Given the description of an element on the screen output the (x, y) to click on. 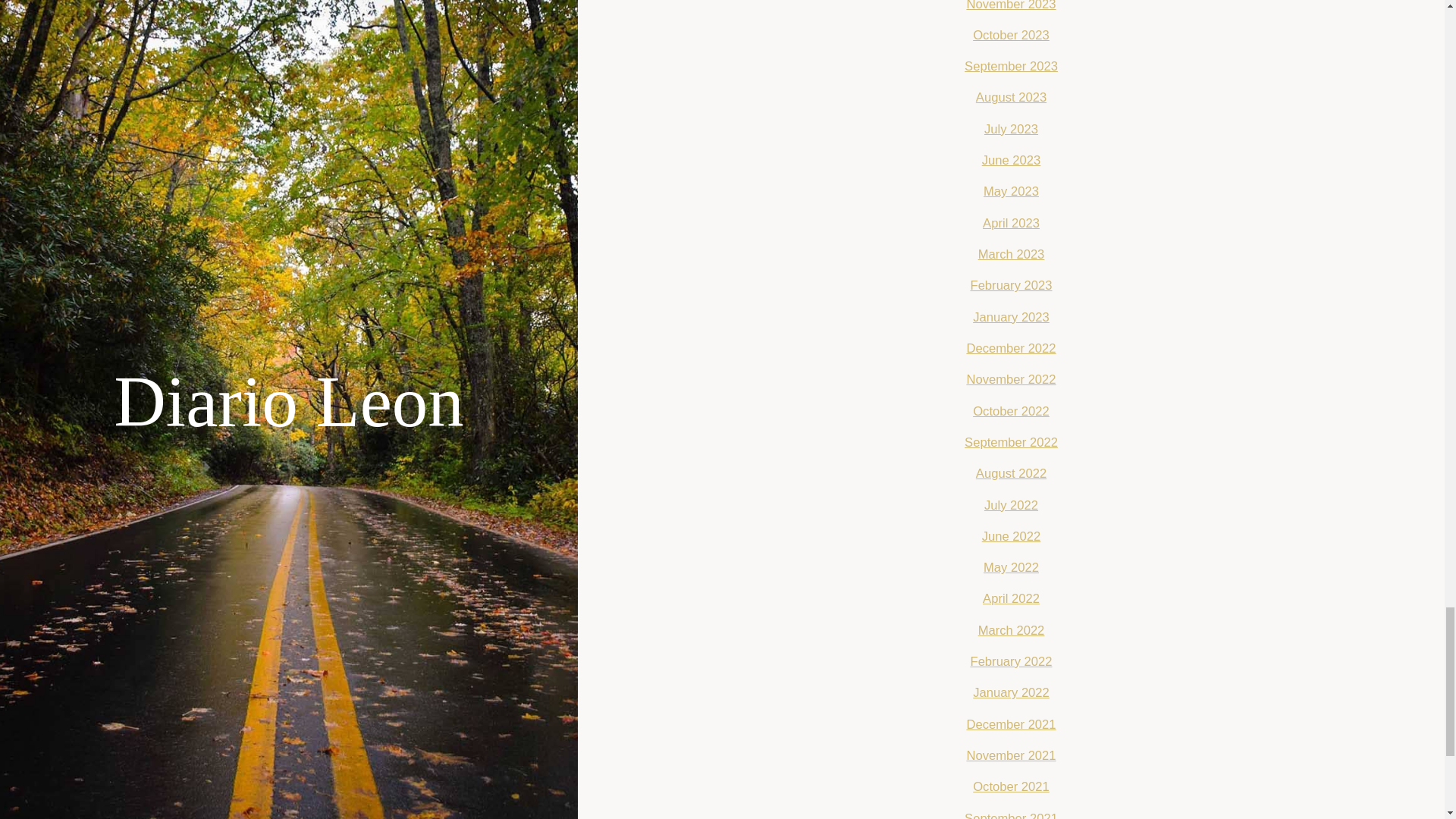
September 2023 (1010, 65)
August 2023 (1010, 97)
May 2023 (1011, 191)
July 2023 (1011, 129)
April 2023 (1010, 223)
June 2023 (1011, 160)
October 2023 (1010, 34)
March 2023 (1011, 254)
November 2023 (1010, 5)
